Given the description of an element on the screen output the (x, y) to click on. 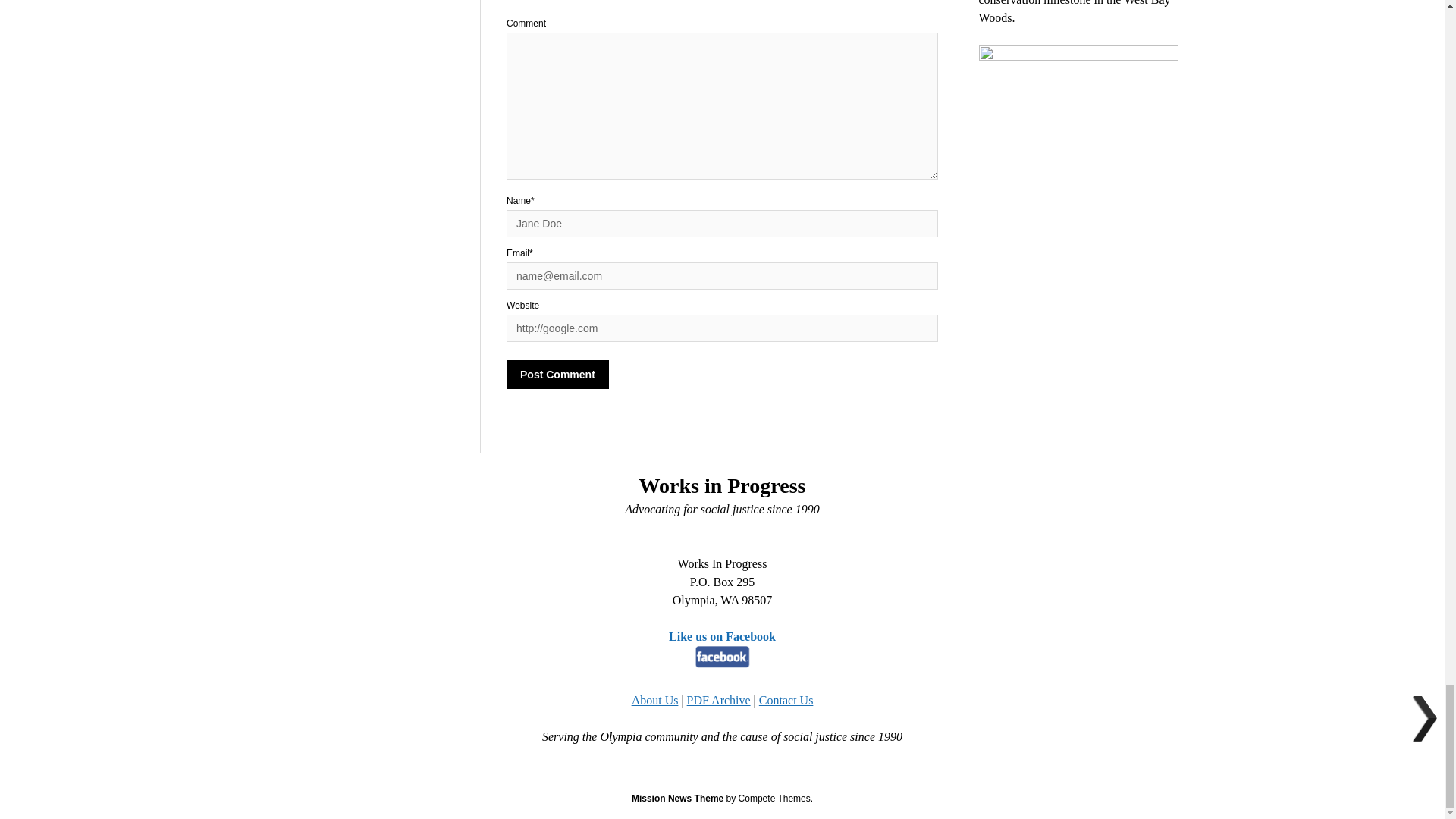
Post Comment (557, 374)
